Given the description of an element on the screen output the (x, y) to click on. 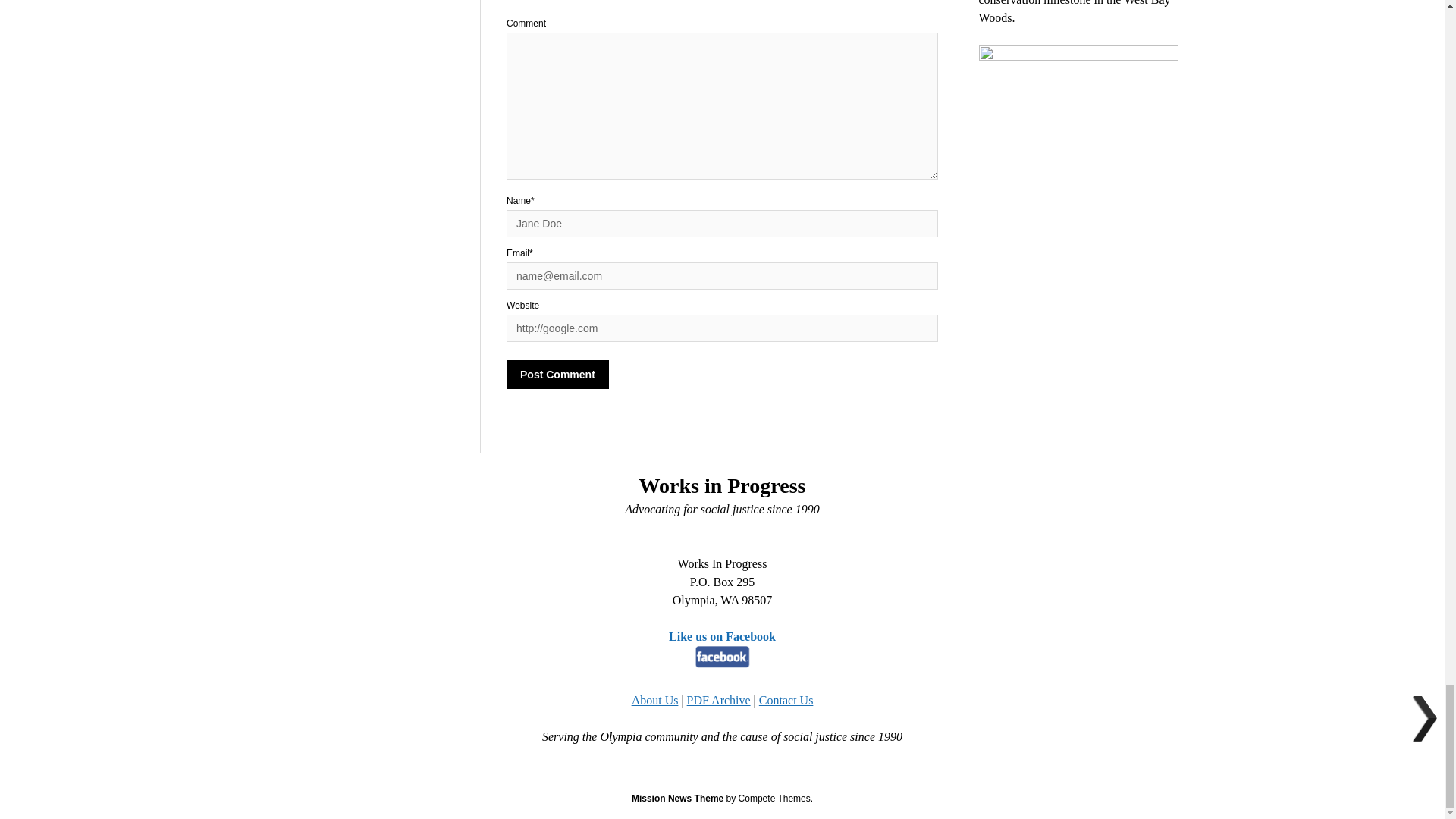
Post Comment (557, 374)
